Given the description of an element on the screen output the (x, y) to click on. 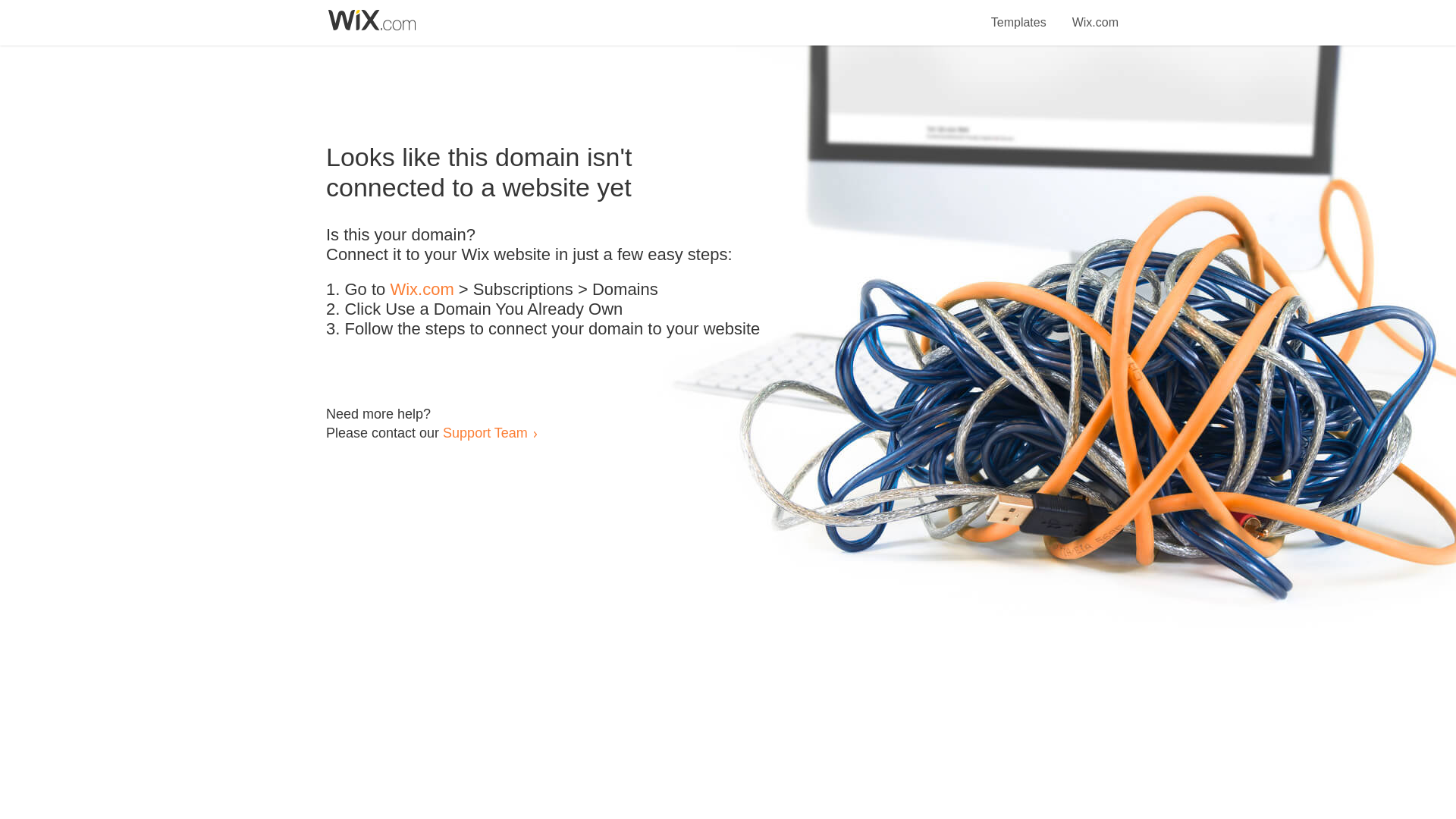
Wix.com (421, 289)
Templates (1018, 14)
Support Team (484, 432)
Wix.com (1095, 14)
